Given the description of an element on the screen output the (x, y) to click on. 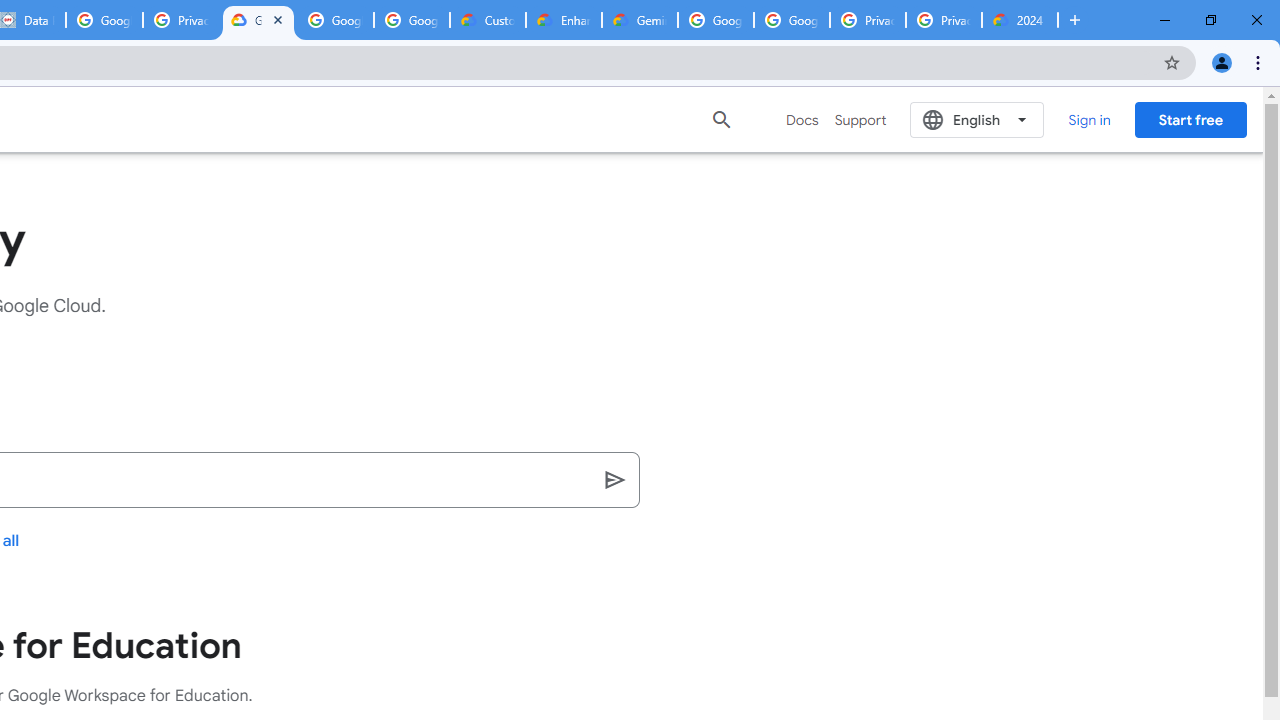
Google Cloud Platform (715, 20)
Customer Care | Google Cloud (488, 20)
Support (860, 119)
Gemini for Business and Developers | Google Cloud (639, 20)
Docs (802, 119)
Enhanced Support | Google Cloud (563, 20)
